Given the description of an element on the screen output the (x, y) to click on. 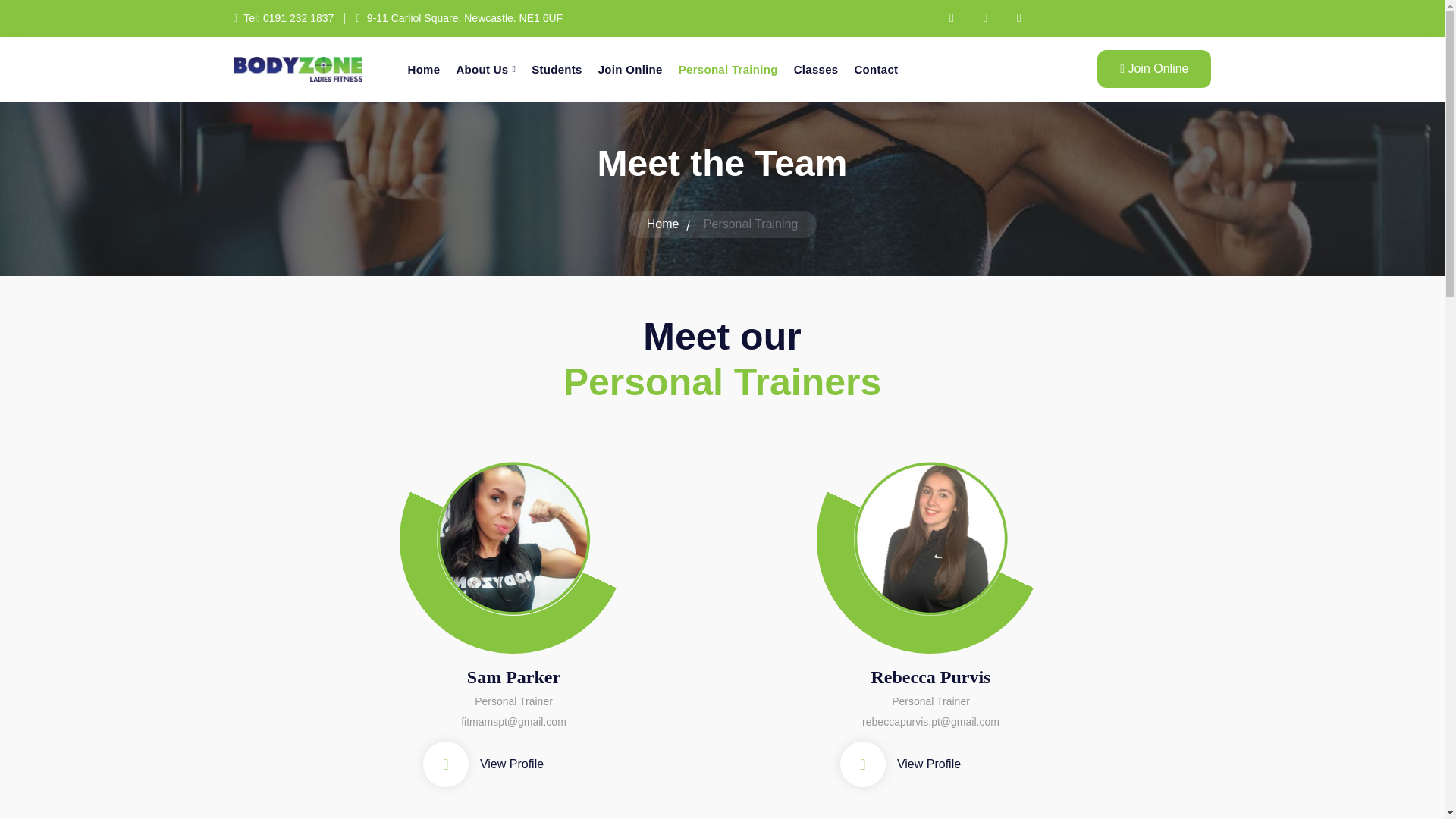
Home (666, 223)
Classes (815, 68)
Join Online (630, 68)
Contact (875, 68)
Students (556, 68)
Join Online (1154, 68)
Personal Training (728, 68)
View Profile (483, 764)
View Profile (900, 764)
